Given the description of an element on the screen output the (x, y) to click on. 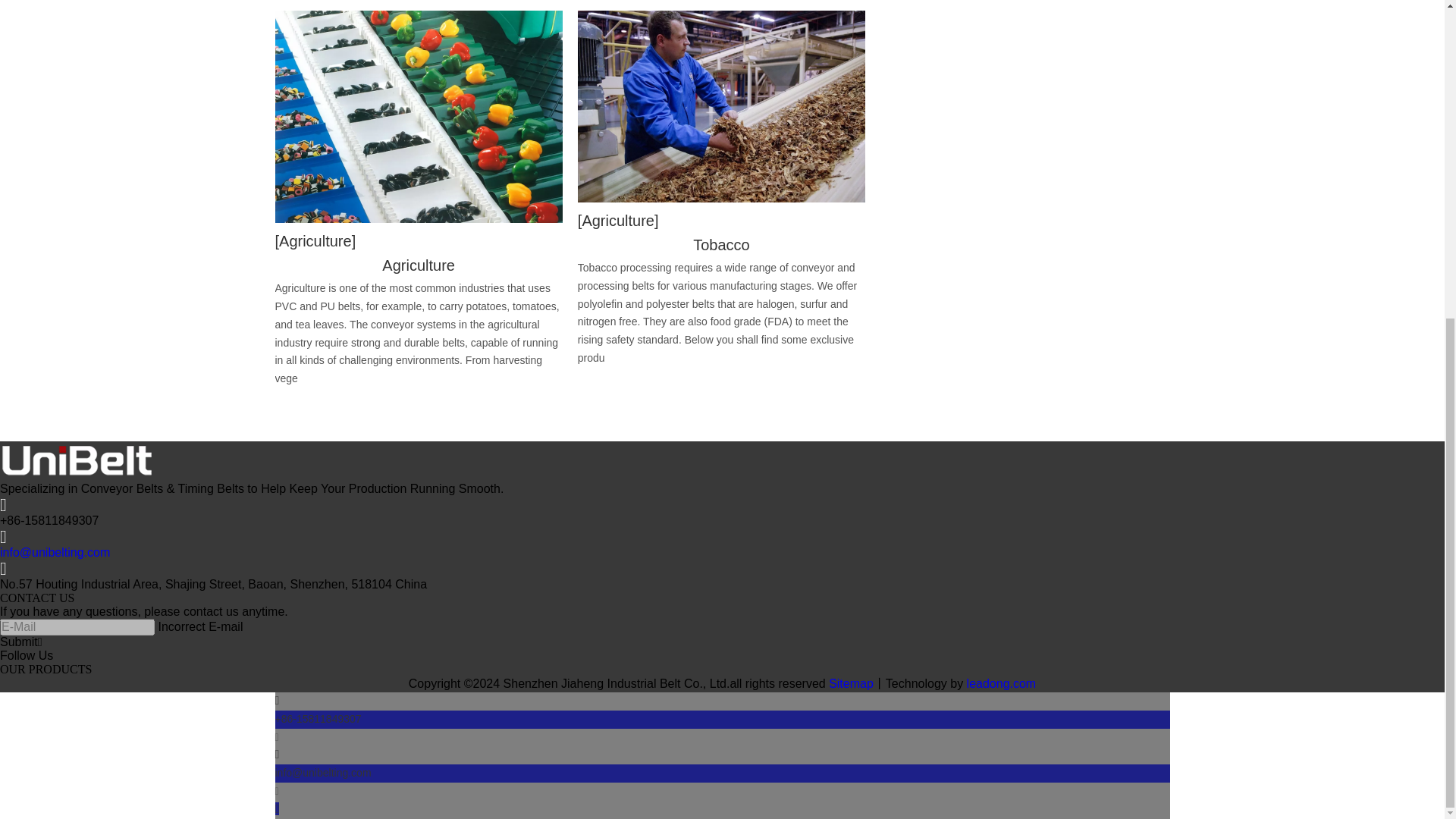
Tobacco (721, 244)
Agriculture (418, 264)
Agriculture (418, 264)
Agriculture (315, 240)
Agriculture (618, 220)
Subscribe (21, 641)
